Given the description of an element on the screen output the (x, y) to click on. 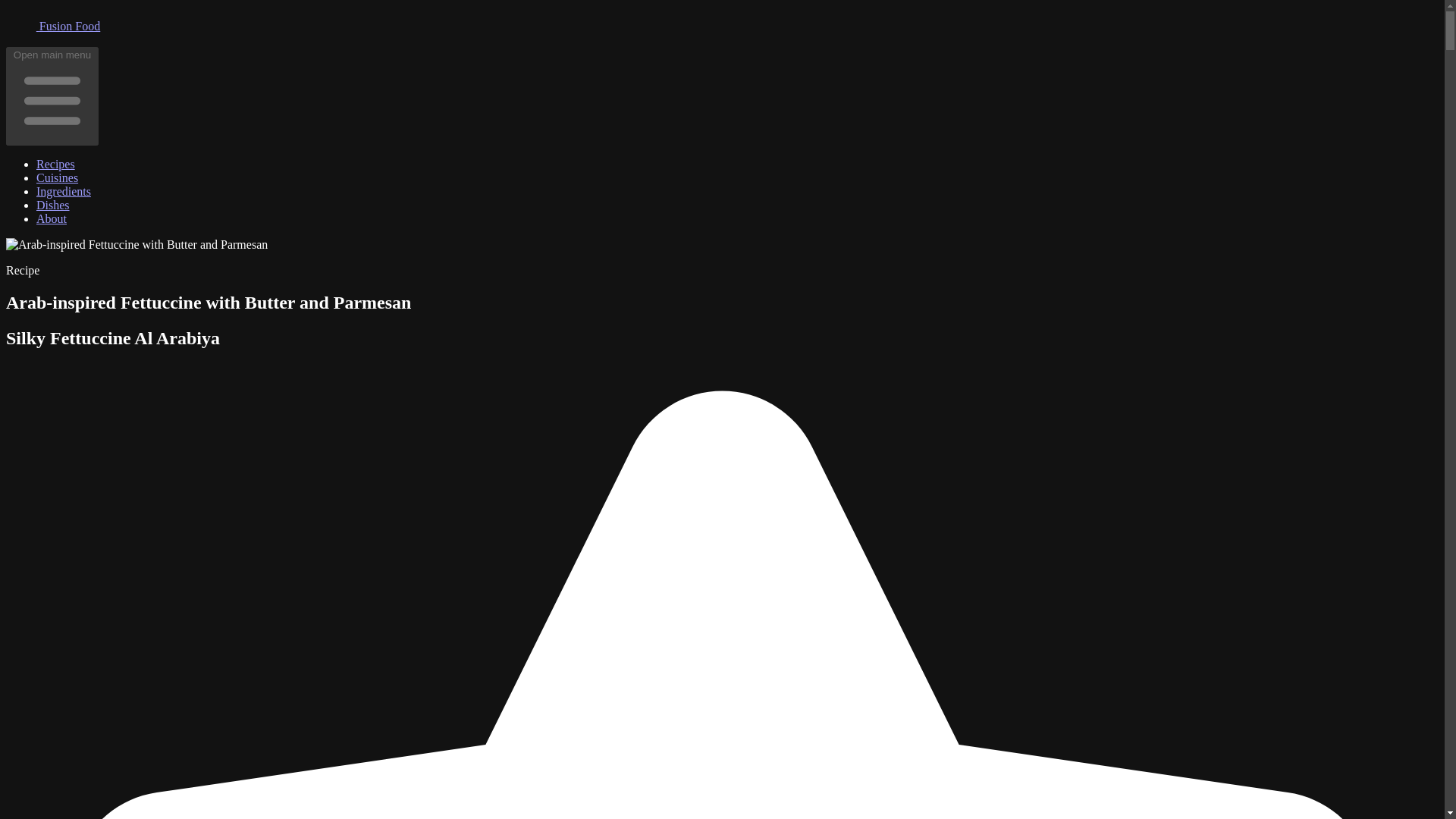
Recipes (55, 164)
About (51, 218)
Dishes (52, 205)
Cuisines (57, 177)
Fusion Food (52, 25)
Ingredients (63, 191)
Open main menu (52, 95)
